Given the description of an element on the screen output the (x, y) to click on. 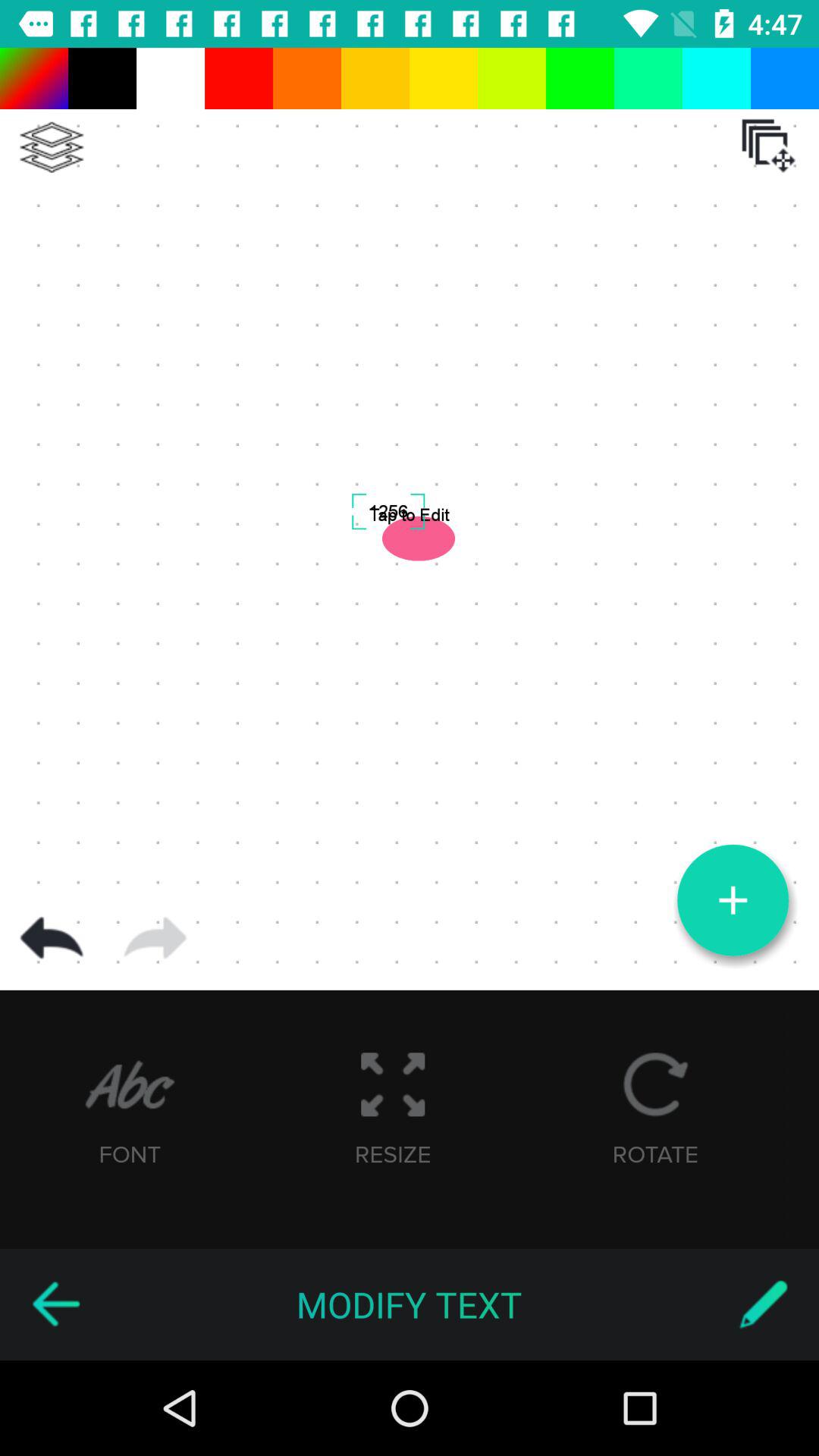
go to previous (55, 1304)
